Given the description of an element on the screen output the (x, y) to click on. 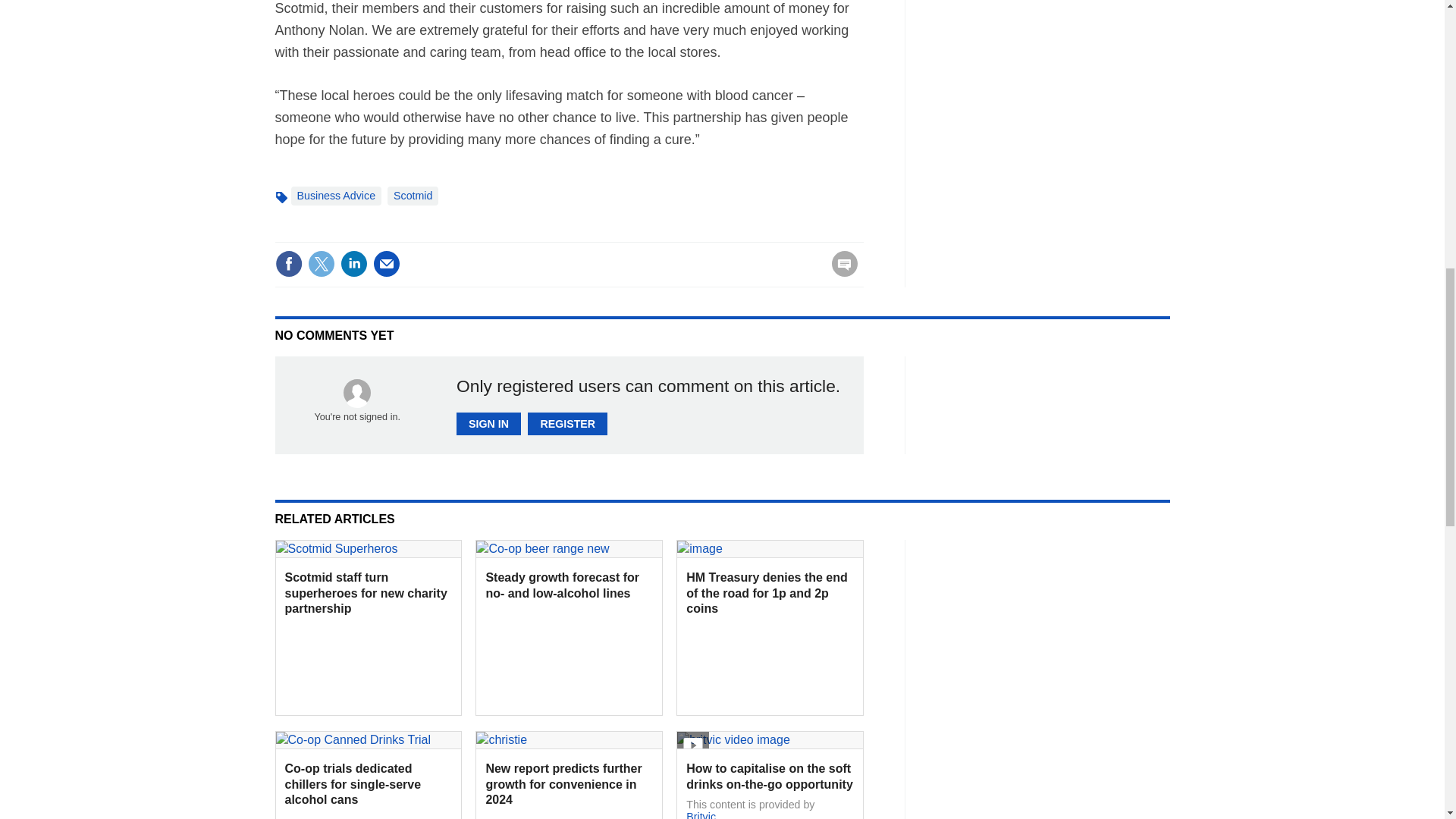
Share this on Facebook (288, 263)
Share this on Twitter (320, 263)
Share this on Linked in (352, 263)
Email this article (386, 263)
No comments (840, 272)
